Given the description of an element on the screen output the (x, y) to click on. 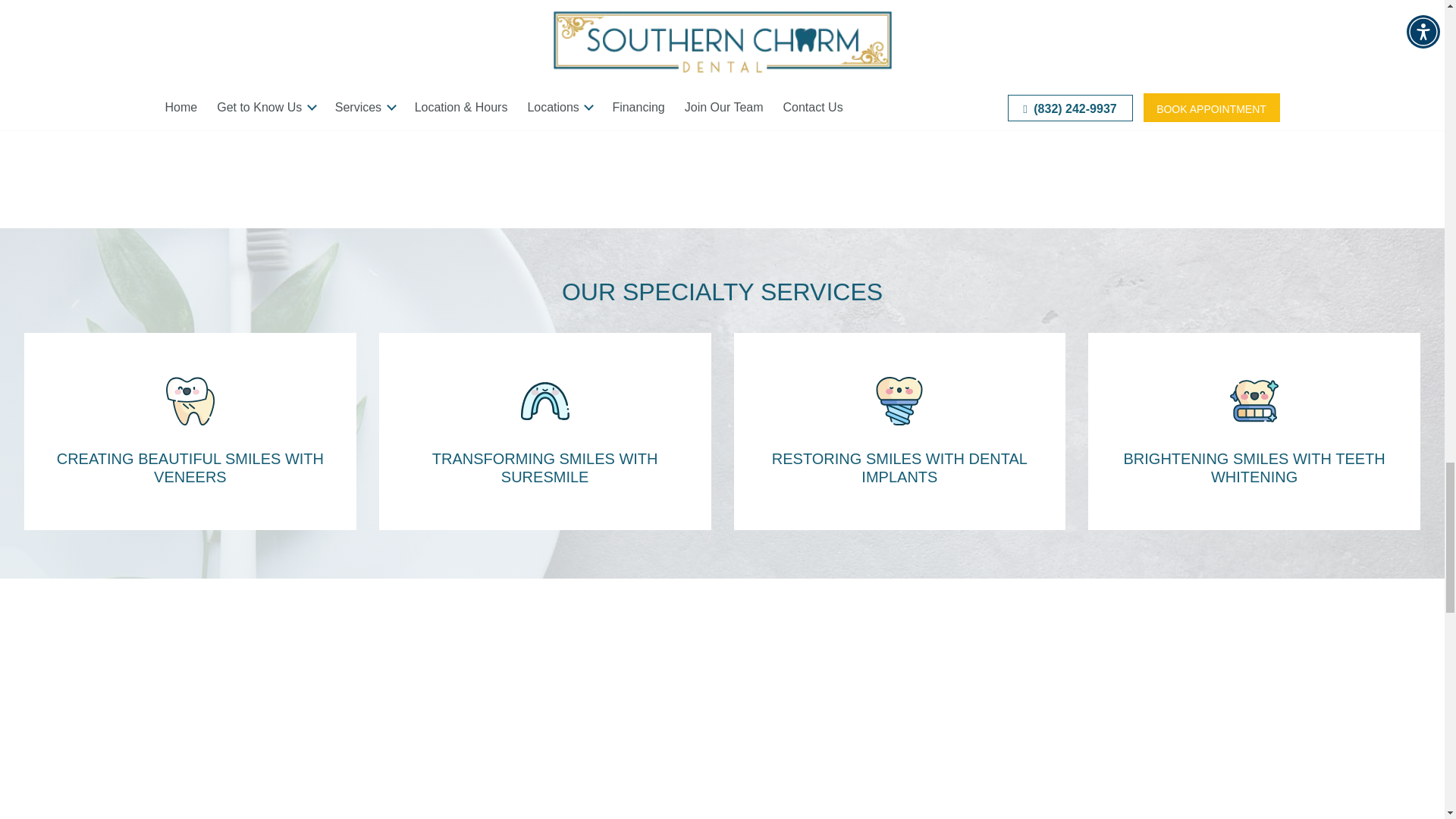
Location Map (1093, 33)
